Given the description of an element on the screen output the (x, y) to click on. 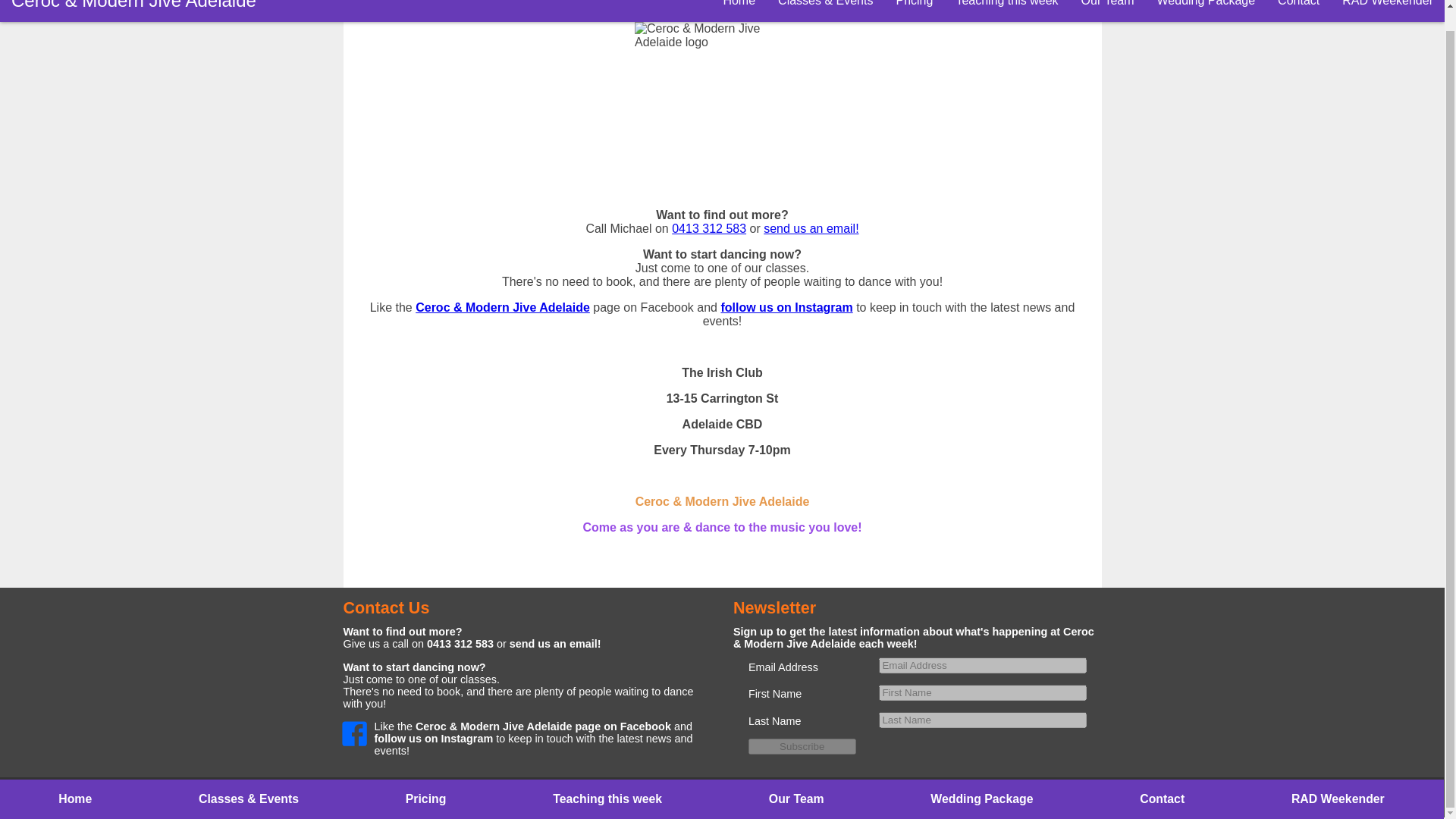
send us an email! (555, 644)
0413 312 583 (459, 644)
Wedding Package (981, 798)
Subscribe (802, 746)
follow us on Instagram (785, 307)
Wedding Package (1205, 11)
Contact (1298, 11)
follow us on Instagram (433, 738)
Our Team (1107, 11)
Our Team (795, 798)
Teaching this week (1005, 11)
0413 312 583 (708, 228)
Subscribe (802, 746)
Pricing (425, 798)
RAD Weekender (1337, 798)
